Given the description of an element on the screen output the (x, y) to click on. 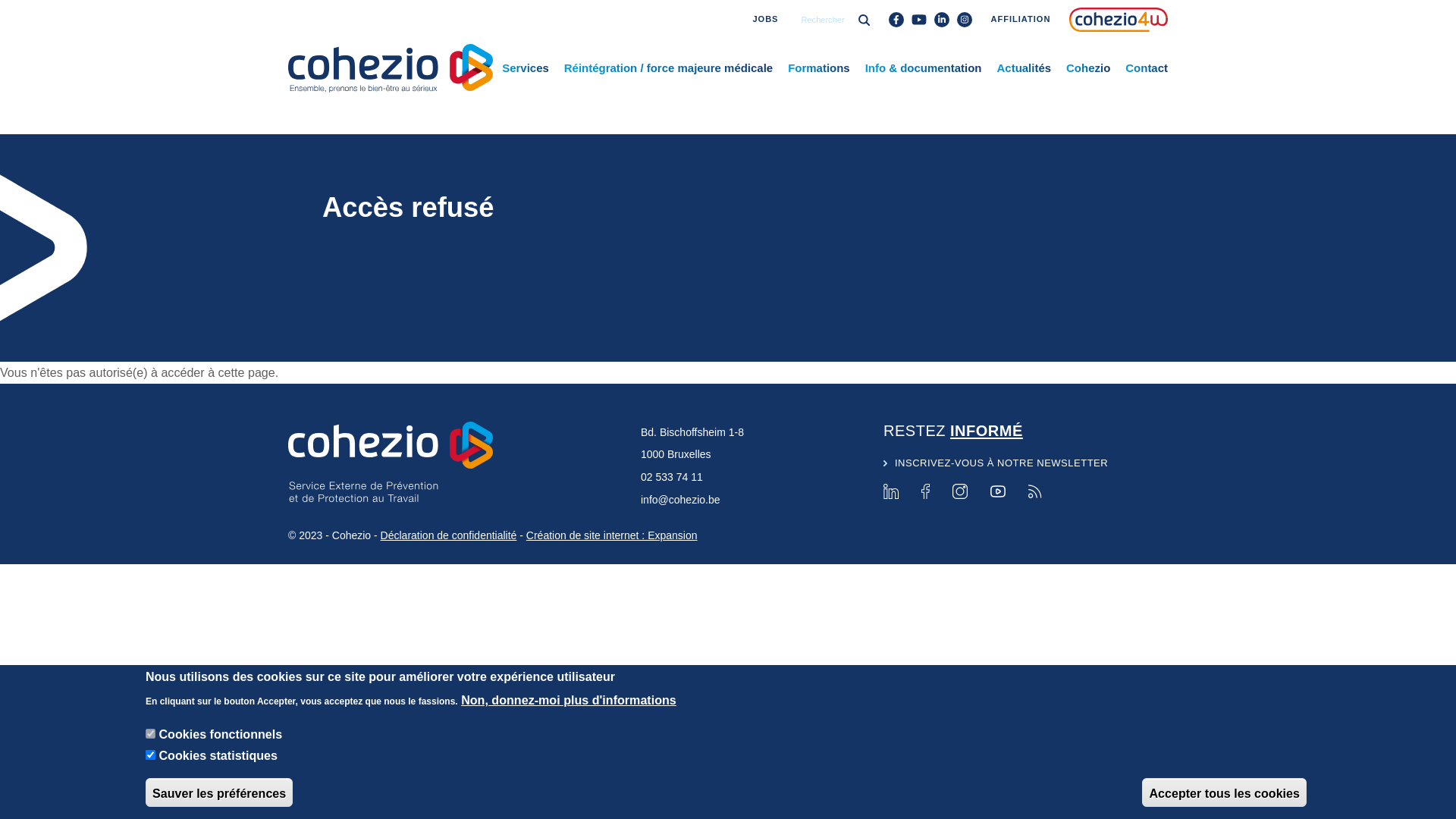
Non, donnez-moi plus d'informations Element type: text (568, 699)
Contact Element type: text (1146, 68)
Facebook Element type: hover (925, 490)
RECHERCHER Element type: text (824, 44)
Cohezio Element type: text (1088, 68)
Accepter tous les cookies Element type: text (1224, 792)
LinkedIn Element type: hover (890, 490)
Formations Element type: text (818, 68)
info@cohezio.be Element type: text (680, 499)
JOBS Element type: text (765, 19)
AFFILIATION Element type: text (1020, 19)
Services Element type: text (525, 68)
Info & documentation Element type: text (923, 68)
RSS Element type: hover (1034, 490)
Youtube Element type: hover (997, 490)
Instagram Element type: hover (959, 490)
